Given the description of an element on the screen output the (x, y) to click on. 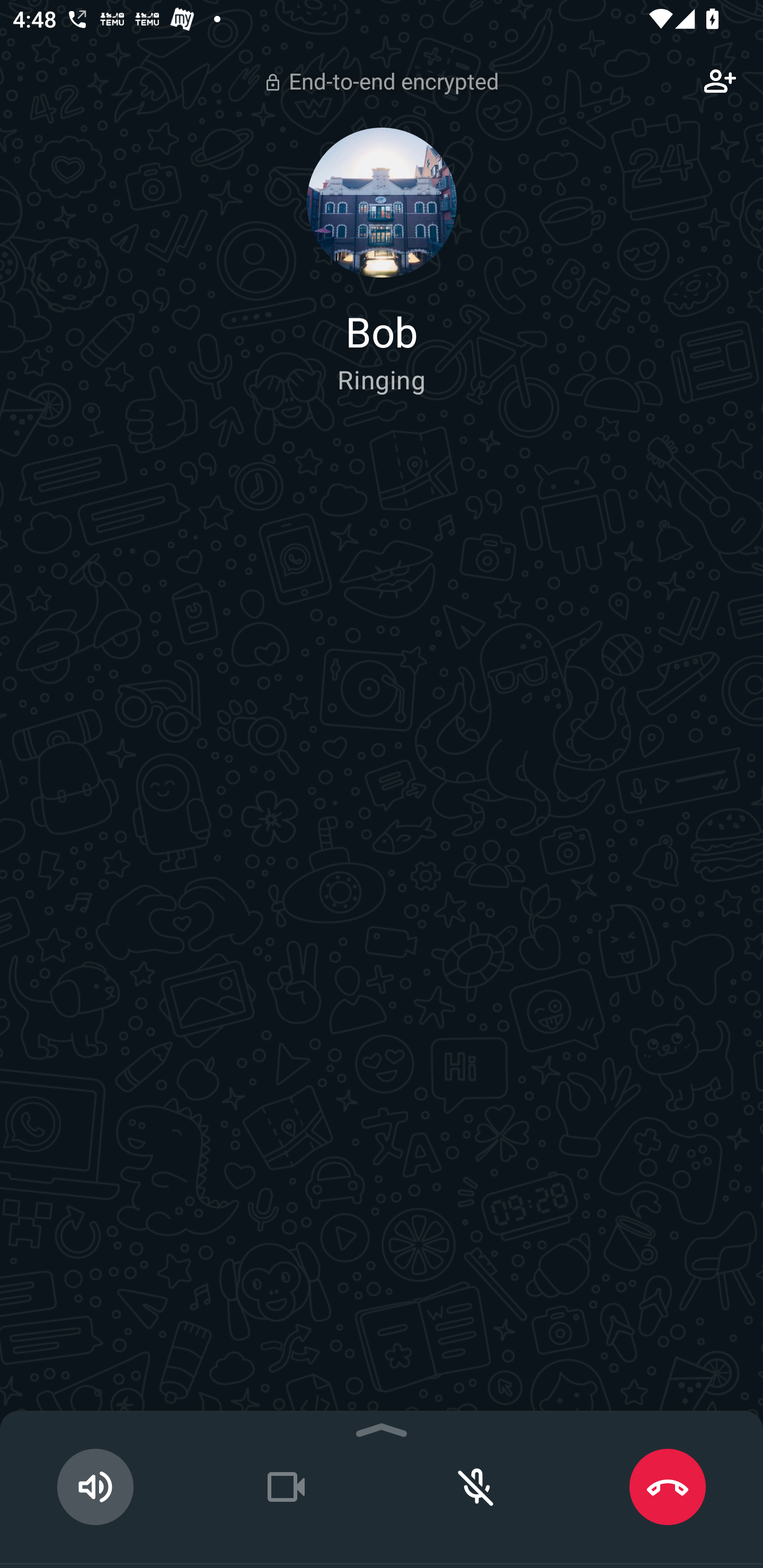
Turn speaker phone off (95, 1486)
Turn camera on (285, 1486)
Mute microphone (476, 1486)
Leave call (667, 1486)
